Given the description of an element on the screen output the (x, y) to click on. 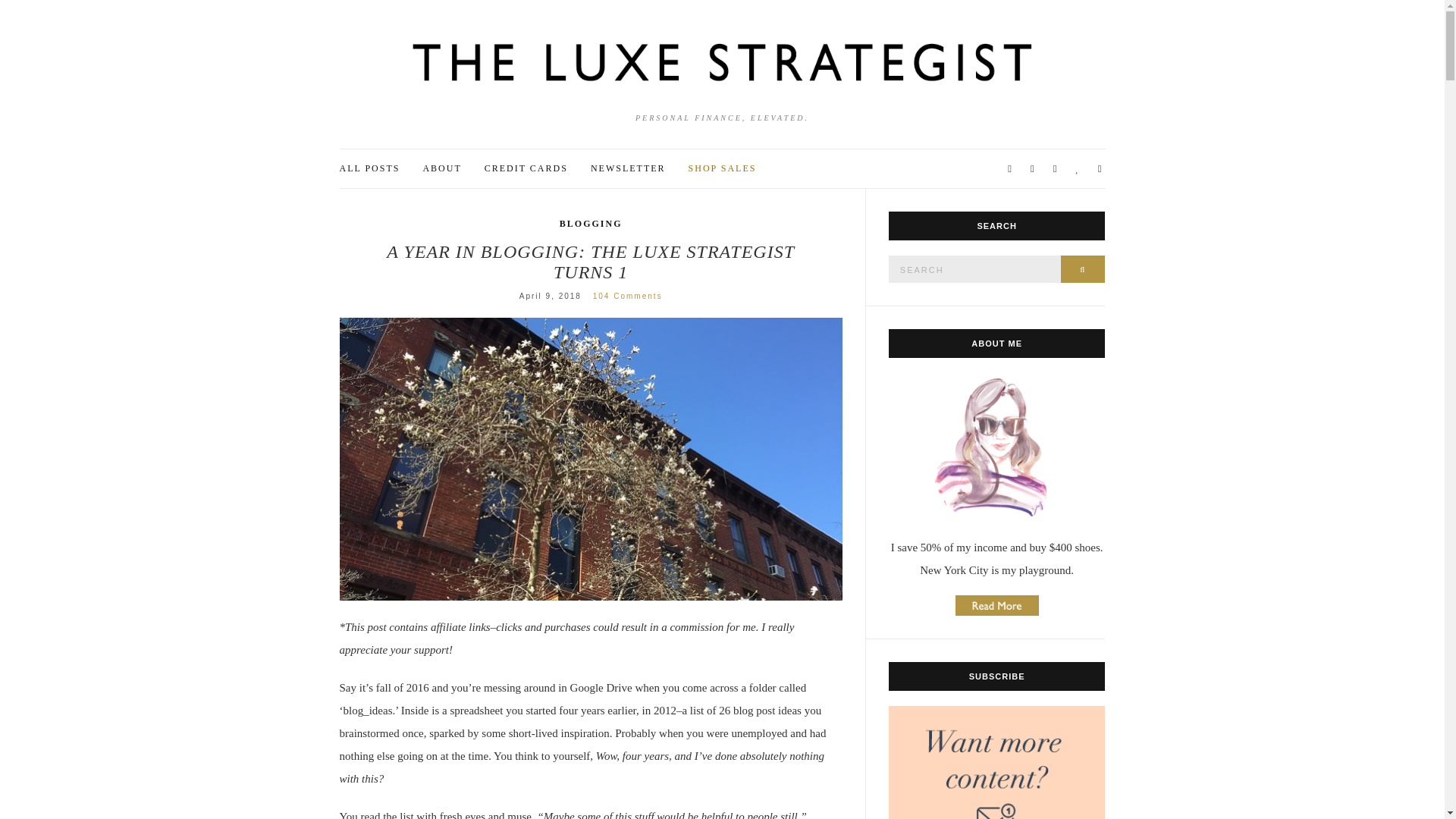
SHOP SALES (722, 168)
CREDIT CARDS (525, 168)
ALL POSTS (369, 168)
104 Comments (627, 295)
BLOGGING (591, 223)
NEWSLETTER (628, 168)
ABOUT (441, 168)
